Given the description of an element on the screen output the (x, y) to click on. 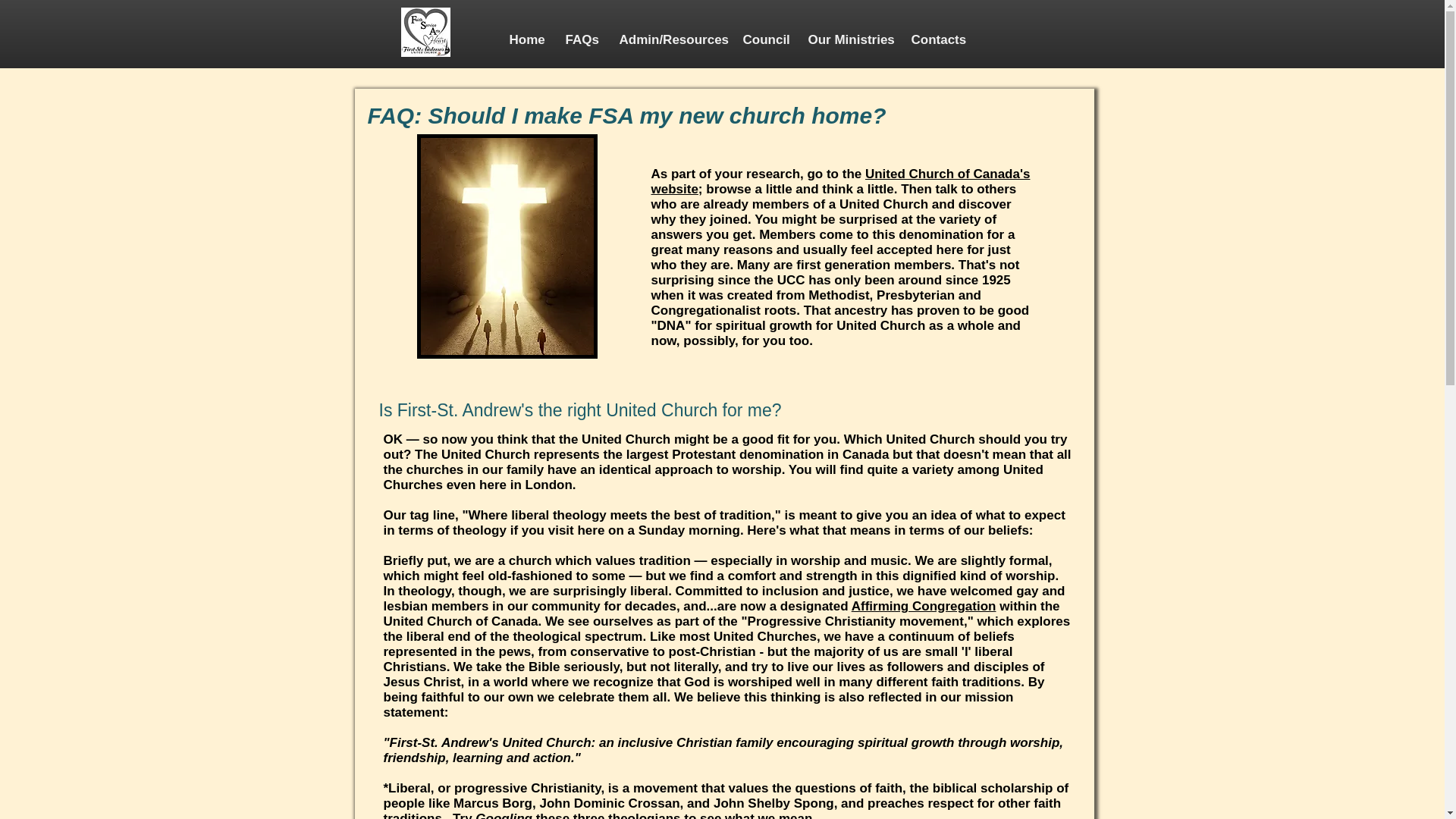
Home (525, 39)
Contacts (935, 39)
United Church of Canada's website (839, 181)
Affirming Congregation (923, 605)
Council (763, 39)
